Given the description of an element on the screen output the (x, y) to click on. 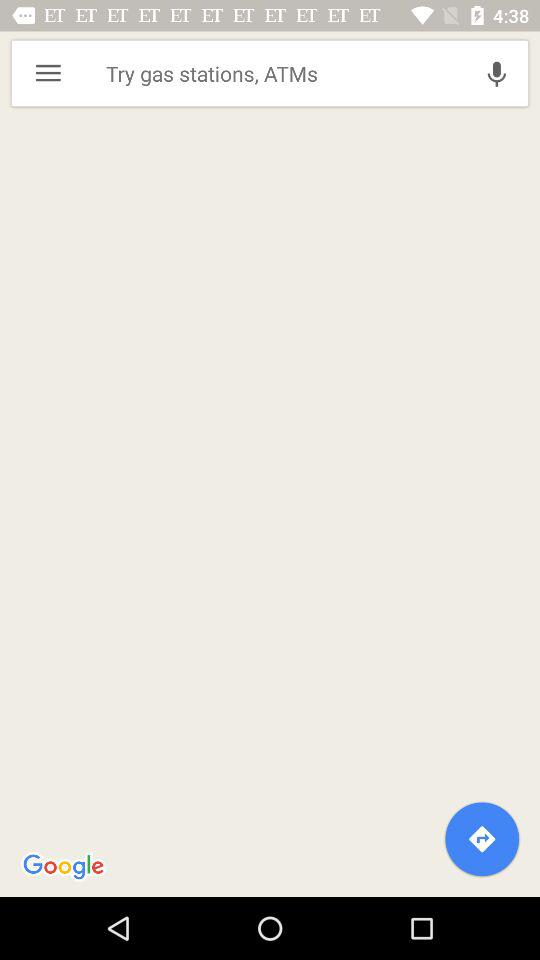
click icon at the top right corner (496, 73)
